Given the description of an element on the screen output the (x, y) to click on. 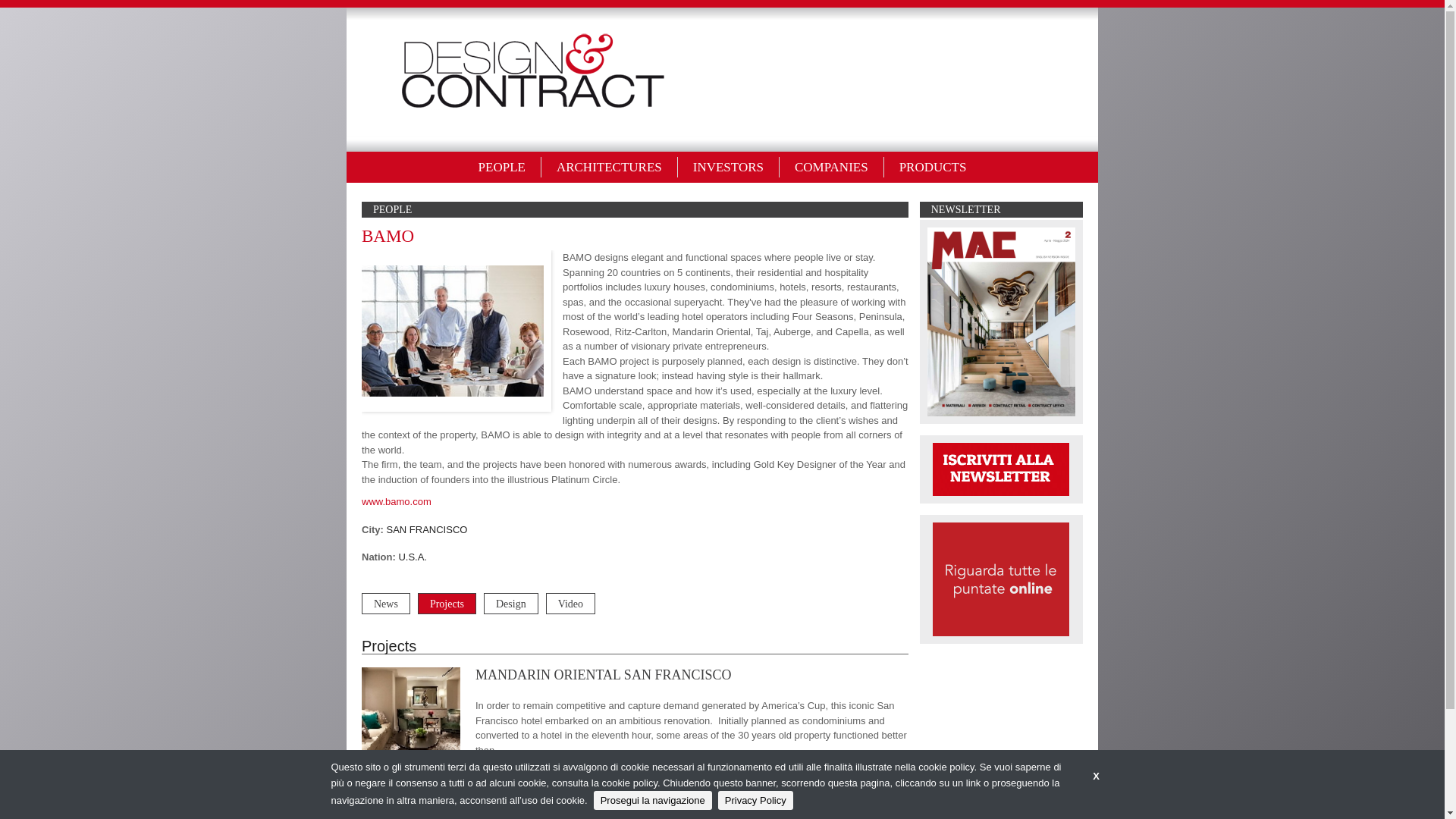
PRODUCTS (932, 166)
Prosegui la navigazione (652, 800)
COMPANIES (830, 166)
www.bamo.com (395, 501)
Video (570, 603)
INVESTORS (728, 166)
Projects (446, 603)
Design (510, 603)
MANDARIN ORIENTAL SAN FRANCISCO (603, 674)
X (1095, 776)
SUITE LIVE TUTTE LE PUNTATE (1000, 577)
Privacy Policy (755, 800)
PEOPLE (502, 166)
FOUR SEASONS RESORT DUBAI AT JUMEIRAH BEACH (647, 784)
ARCHITECTURES (609, 166)
